Given the description of an element on the screen output the (x, y) to click on. 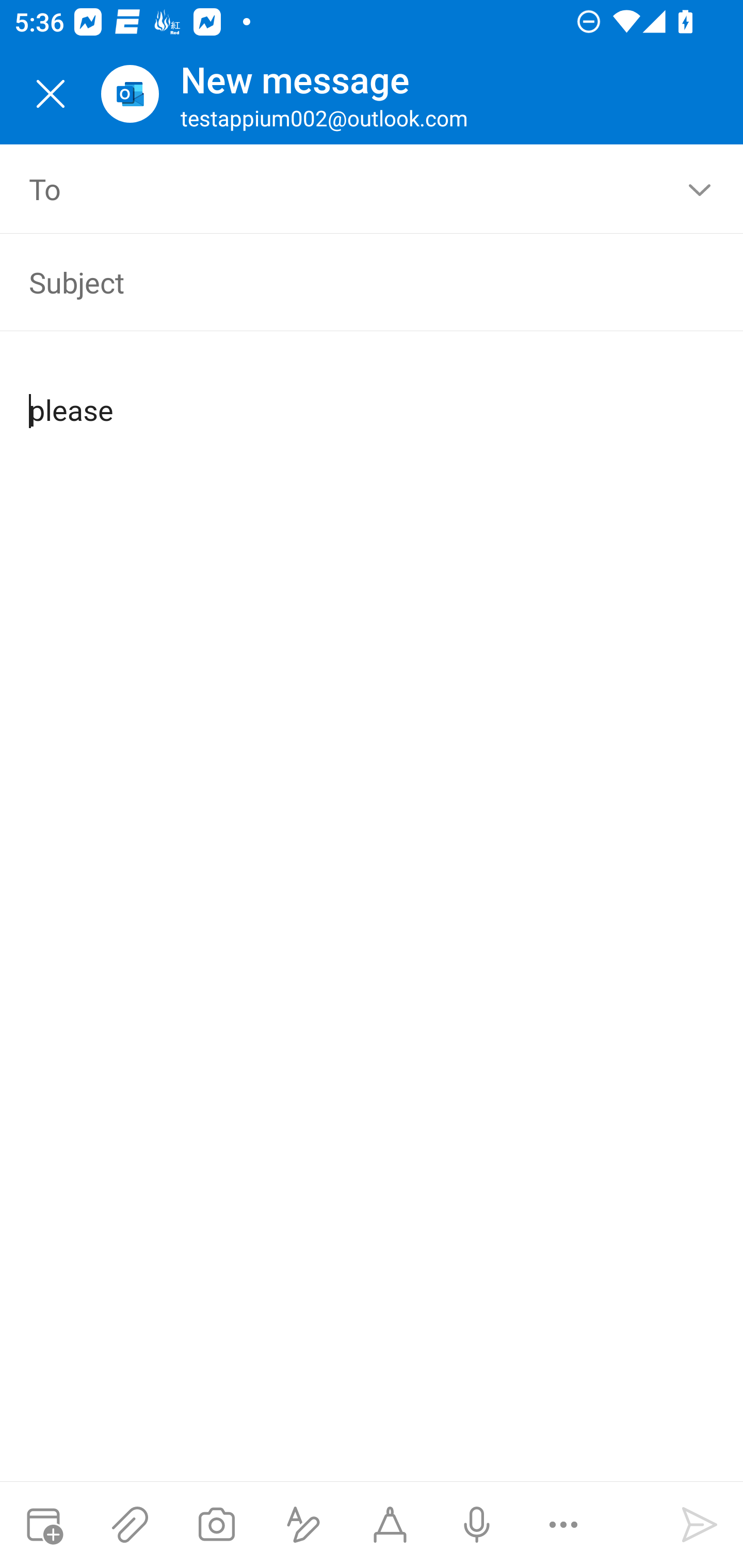
Close (50, 93)
Subject (342, 281)

please (372, 394)
Attach meeting (43, 1524)
Attach files (129, 1524)
Take a photo (216, 1524)
Show formatting options (303, 1524)
Start Ink compose (389, 1524)
Dictation (476, 1524)
More options (563, 1524)
Send (699, 1524)
